Given the description of an element on the screen output the (x, y) to click on. 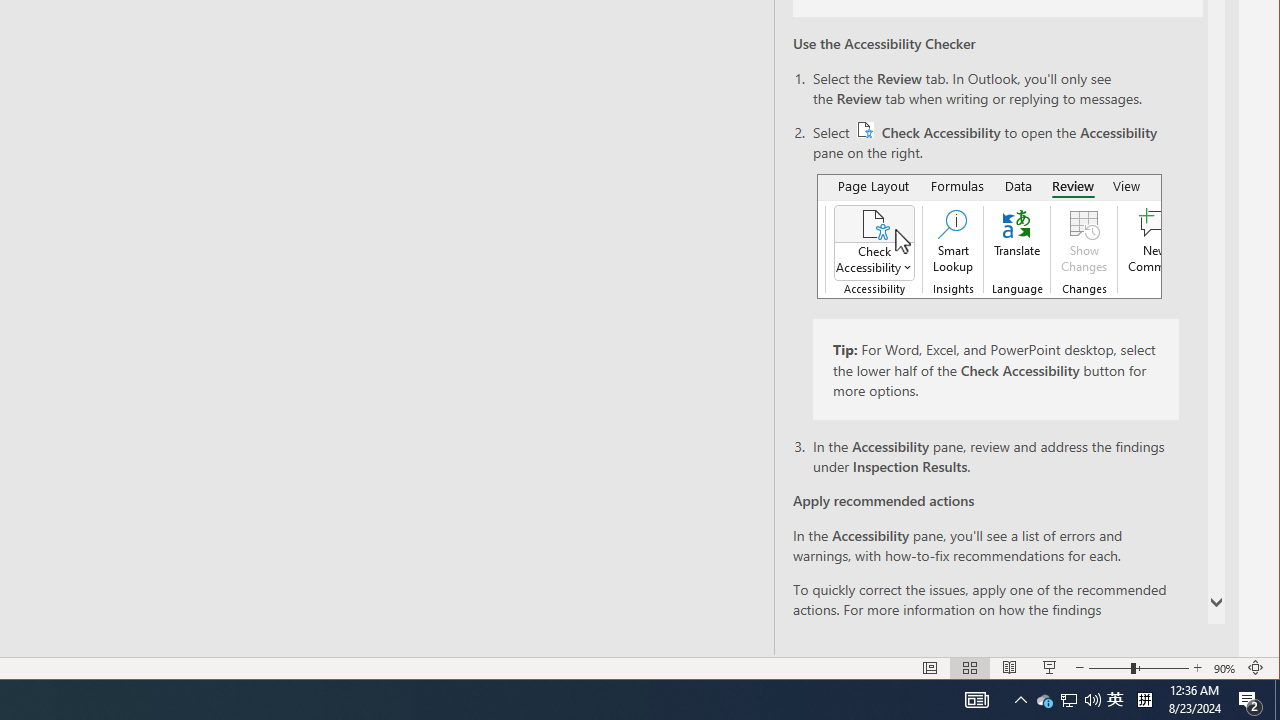
Tray Input Indicator - Chinese (Simplified, China) (1144, 699)
Notification Chevron (1020, 699)
Rules for the Accessibility Checker (1025, 628)
Accessibility checker button on ribbon (989, 236)
AutomationID: 4105 (976, 699)
Show desktop (1115, 699)
